Given the description of an element on the screen output the (x, y) to click on. 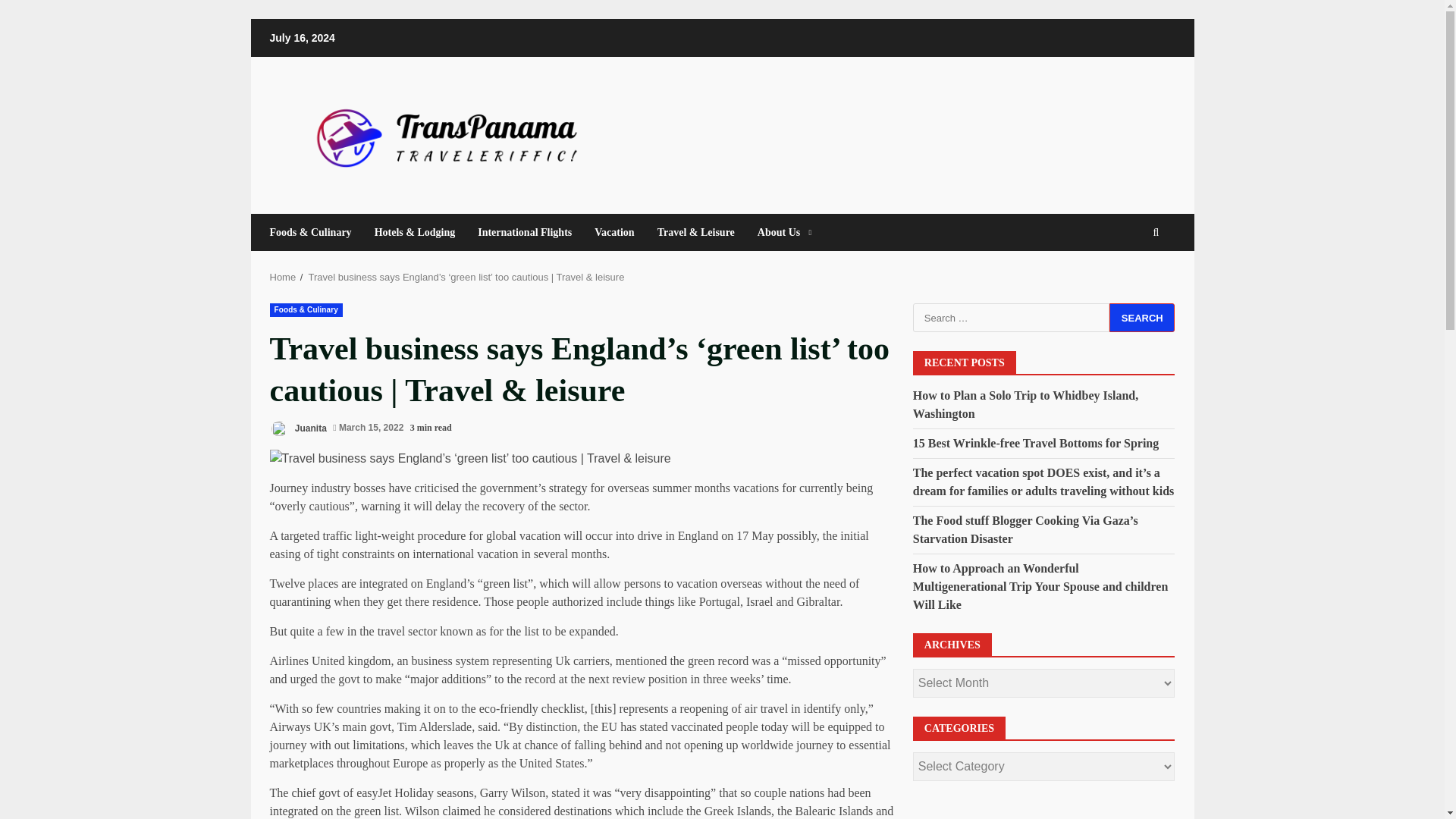
Search (1128, 278)
Vacation (614, 231)
International Flights (524, 231)
Search (1141, 317)
Search (1141, 317)
Search (1141, 317)
Juanita (297, 428)
About Us (777, 231)
Home (283, 276)
